Given the description of an element on the screen output the (x, y) to click on. 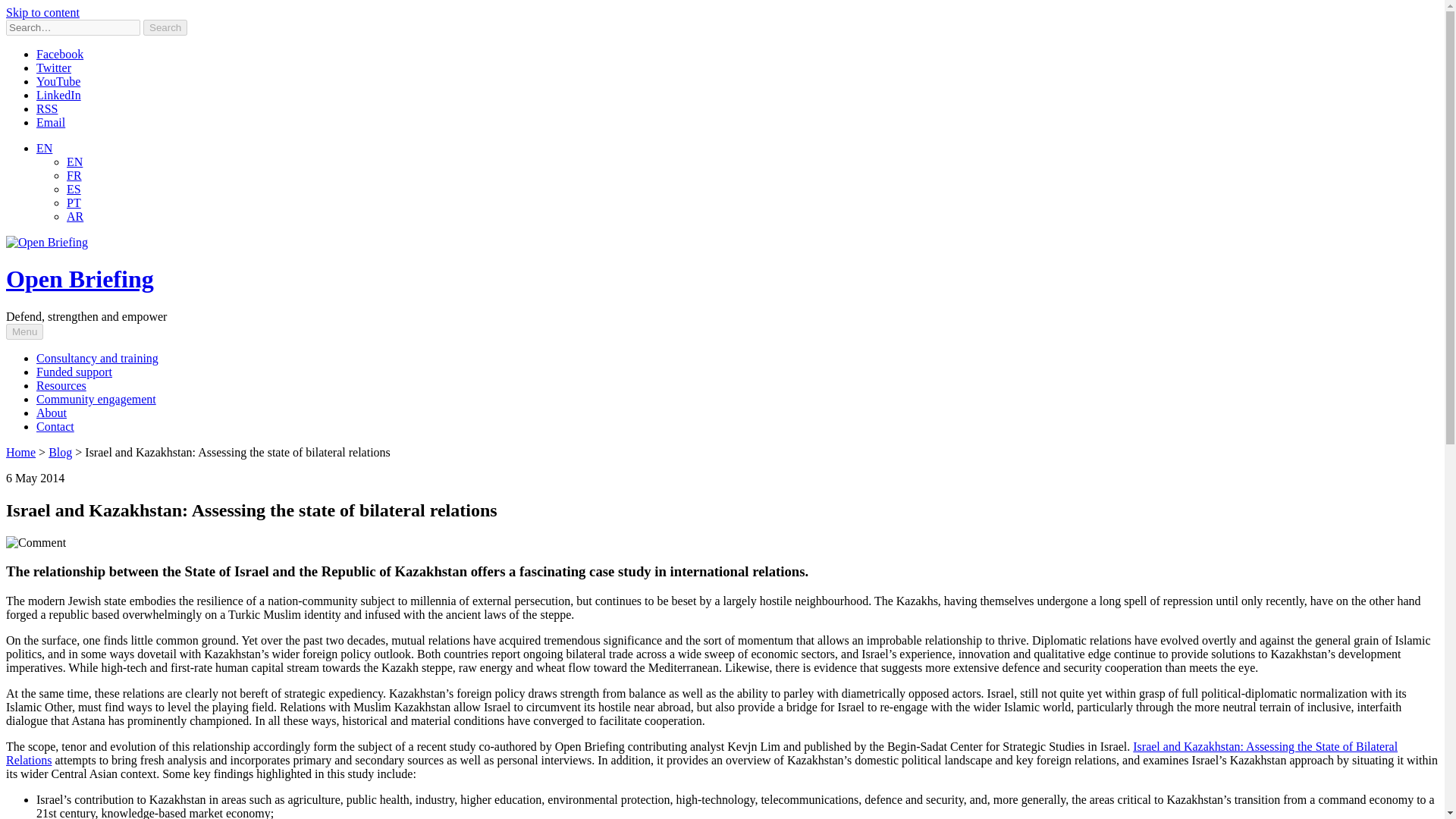
ES (73, 188)
Home (19, 451)
Skip to content (42, 11)
Blog (59, 451)
PT (73, 202)
Email (50, 122)
Search (164, 27)
About (51, 412)
Facebook (59, 53)
Resources (60, 385)
YouTube (58, 81)
LinkedIn (58, 94)
Menu (24, 331)
EN (74, 161)
